Given the description of an element on the screen output the (x, y) to click on. 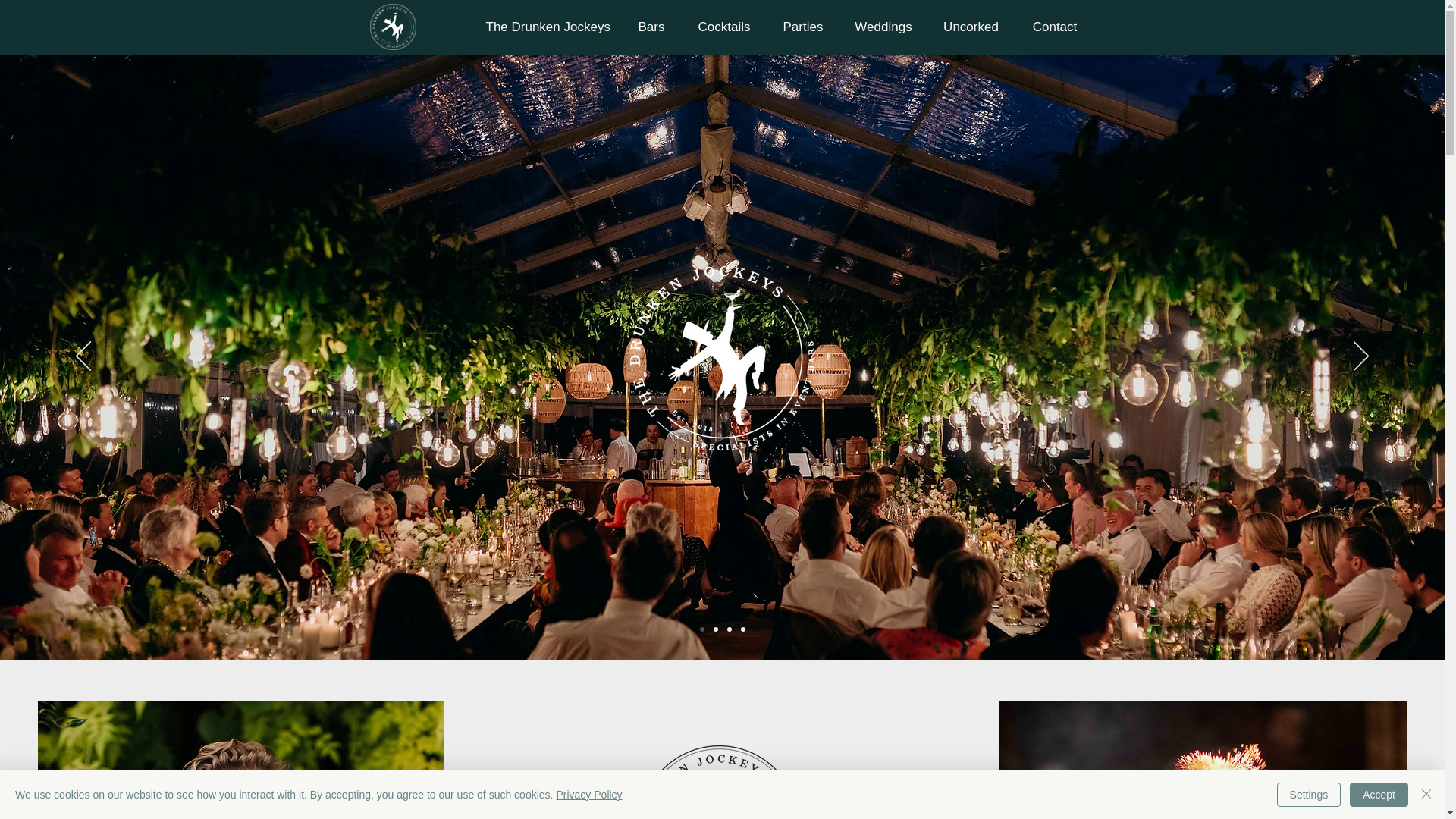
Parties (802, 26)
The Drunken Jockeys (547, 26)
Uncorked (970, 26)
Accept (1378, 794)
Settings (1308, 794)
Bars (650, 26)
Privacy Policy (588, 794)
Cocktails (724, 26)
Contact (1054, 26)
Weddings (883, 26)
